Given the description of an element on the screen output the (x, y) to click on. 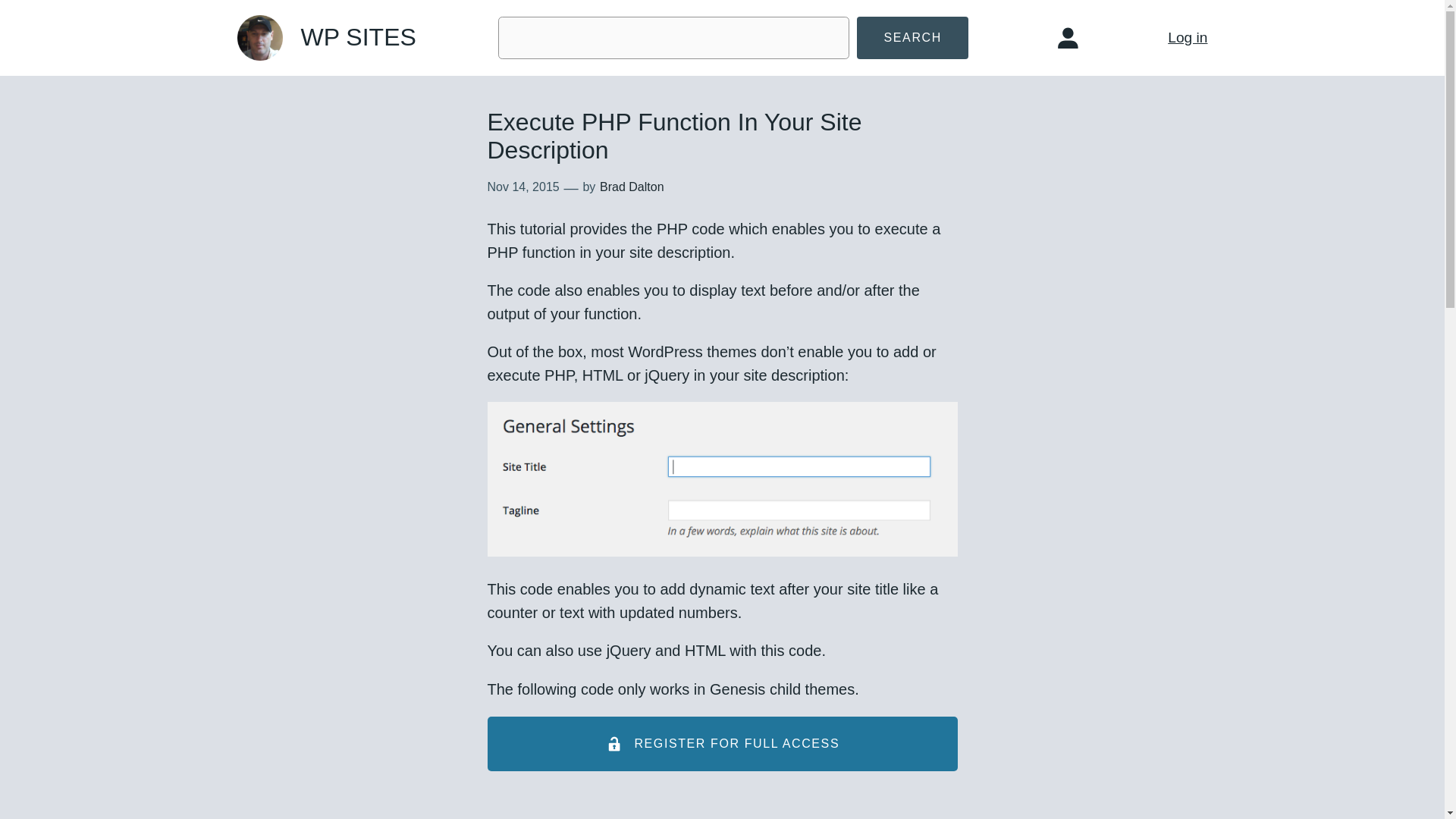
Nov 14, 2015 (522, 186)
SEARCH (912, 37)
Log in (1187, 37)
REGISTER FOR FULL ACCESS (721, 744)
Brad Dalton (631, 186)
WP SITES (356, 36)
